Given the description of an element on the screen output the (x, y) to click on. 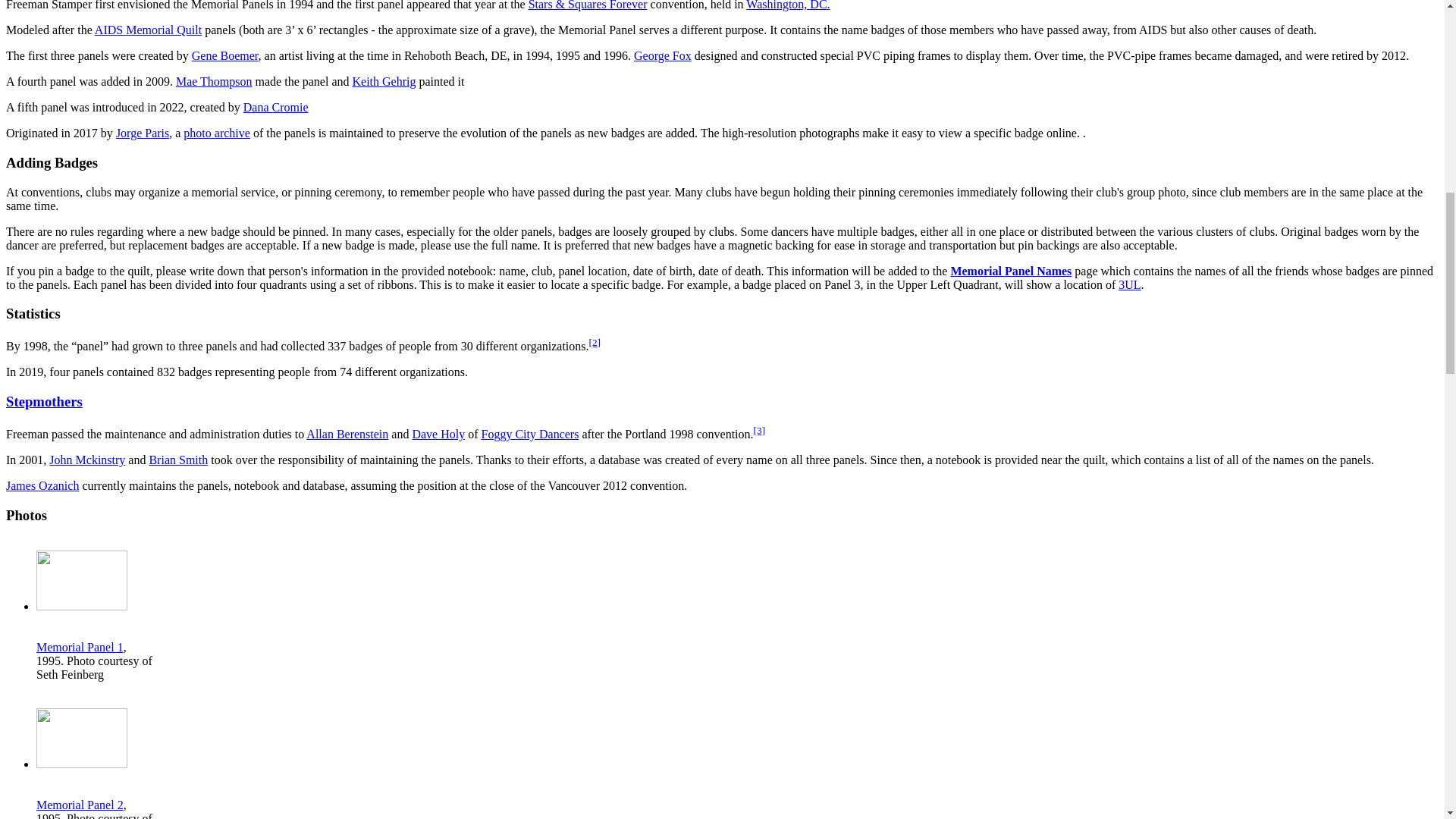
Jorge Paris (142, 132)
AIDS Memorial Quilt (148, 29)
Washington, DC (787, 5)
George Fox (662, 55)
Dana Cromie (275, 106)
Allan Berenstein (346, 433)
Keith Gehrig (383, 81)
Mae Thompson (213, 81)
Dave Holy (438, 433)
Memorial Panel 2 (79, 804)
